Given the description of an element on the screen output the (x, y) to click on. 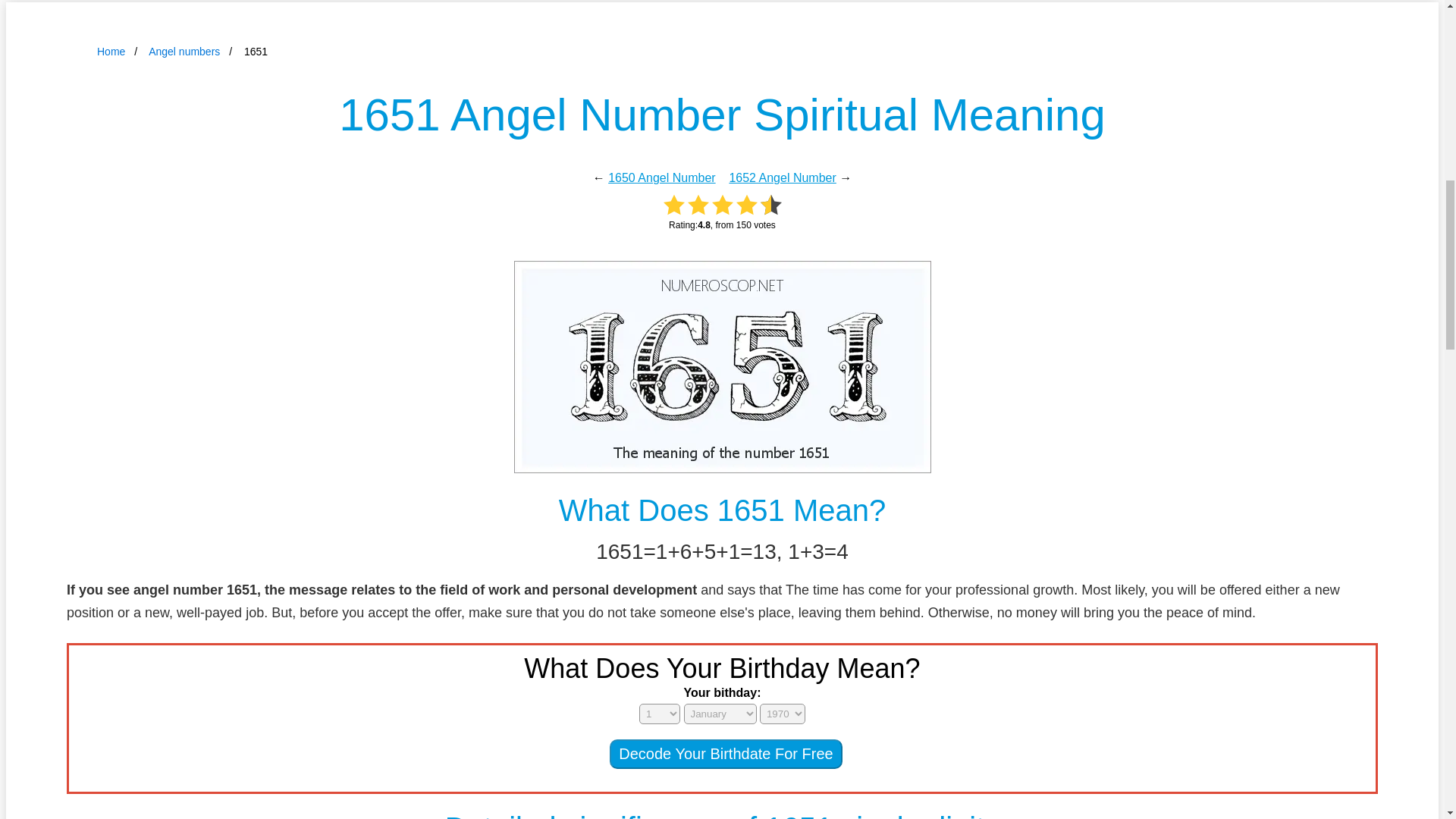
1650 Angel Number (661, 177)
5 stars (770, 204)
4 stars (745, 204)
2 stars (697, 204)
3 stars (721, 204)
Decode Your Birthdate For Free (725, 754)
Angel number 1651 meaning (722, 367)
Angel numbers (183, 51)
1652 Angel Number (782, 177)
Home (111, 51)
1 star (673, 204)
